Given the description of an element on the screen output the (x, y) to click on. 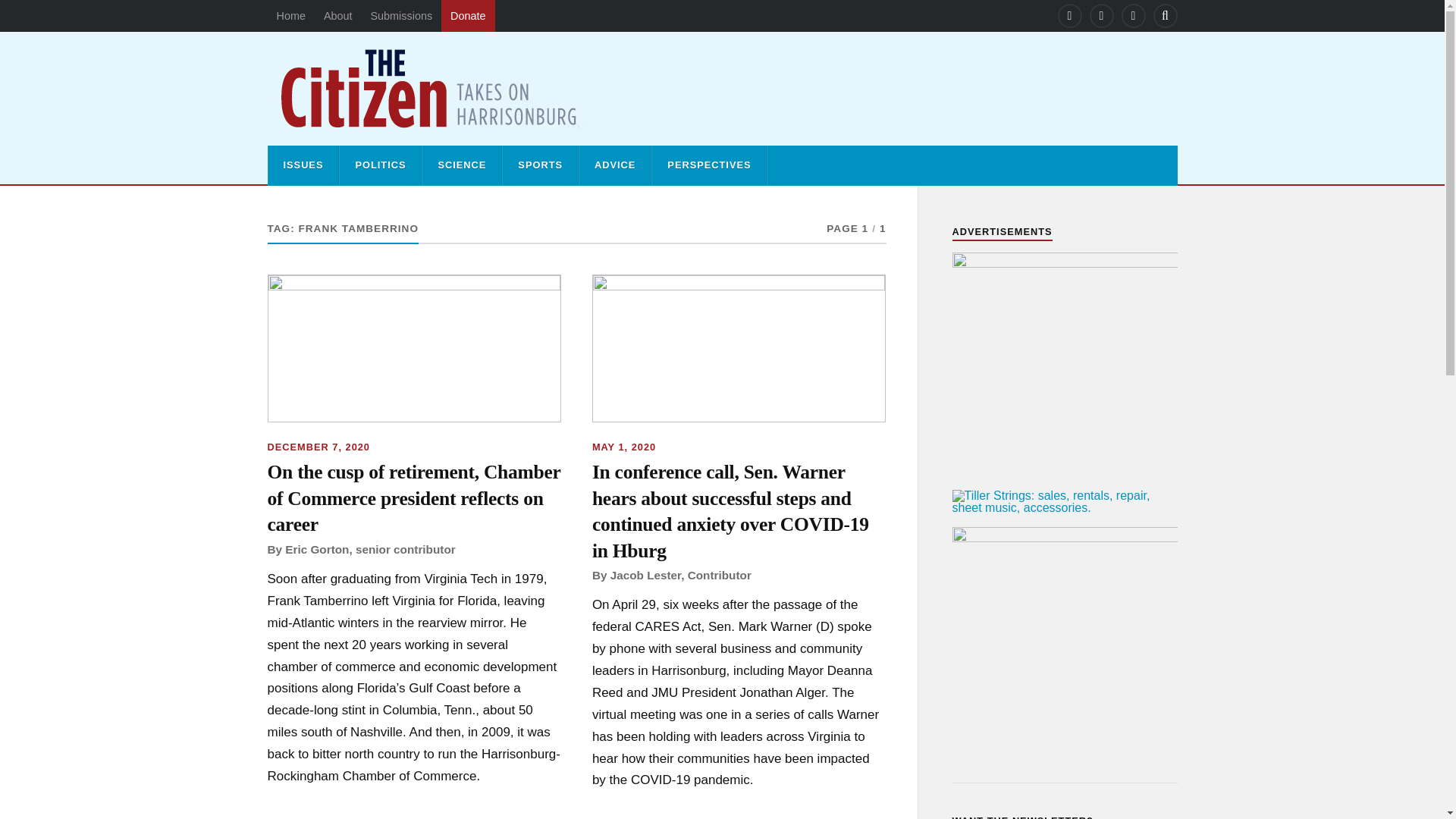
POLITICS (379, 165)
ADVICE (614, 165)
SCIENCE (461, 165)
PERSPECTIVES (708, 165)
Home (290, 15)
Eric Gorton, senior contributor (369, 549)
Jacob Lester, Contributor (680, 574)
SPORTS (540, 165)
Submissions (401, 15)
About (337, 15)
ISSUES (303, 165)
Donate (468, 15)
